Given the description of an element on the screen output the (x, y) to click on. 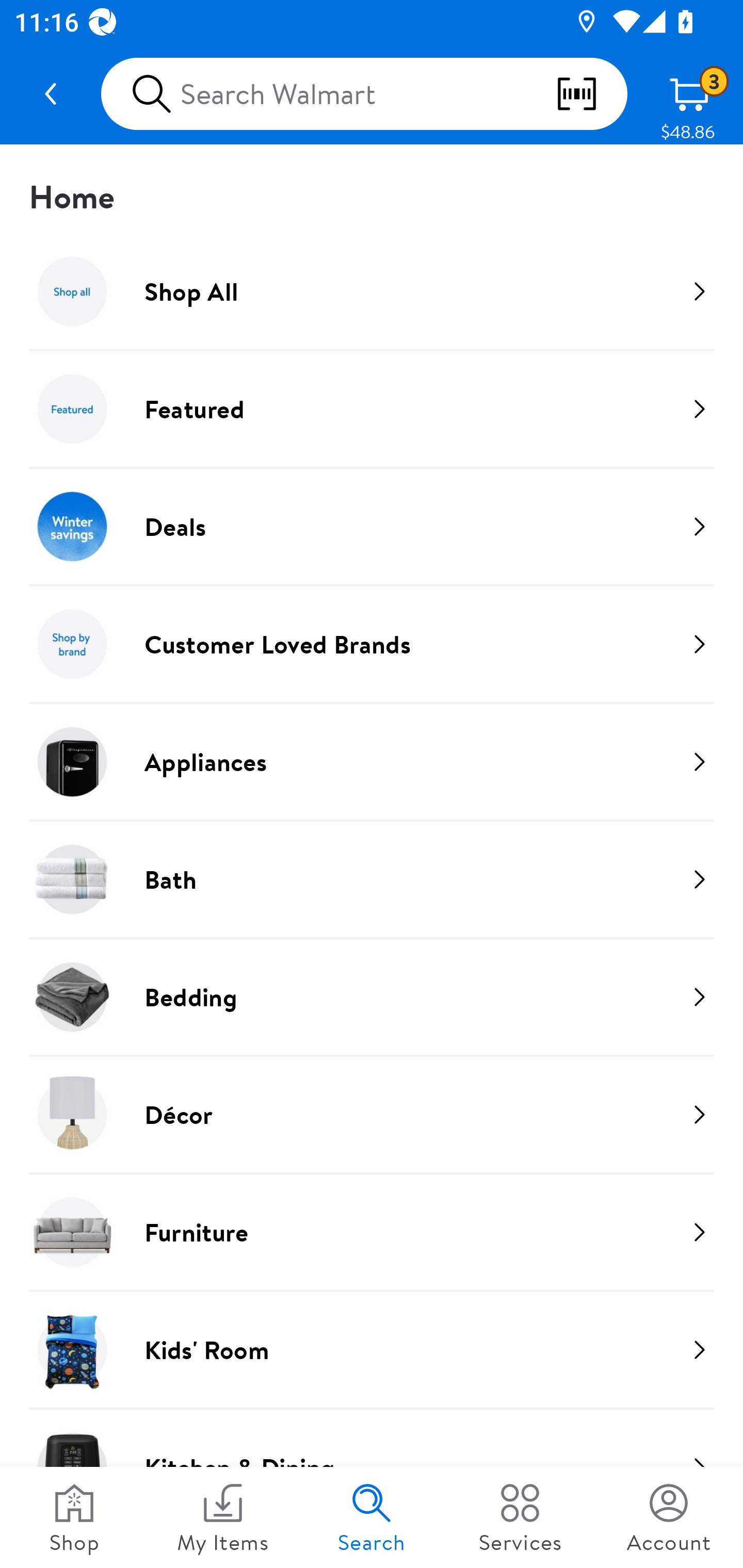
Navigate up (50, 93)
Search Walmart scan barcodes qr codes and more (364, 94)
scan barcodes qr codes and more (591, 94)
Shop All (371, 291)
Featured (371, 409)
Deals (371, 526)
Customer Loved Brands (371, 644)
Appliances (371, 762)
Bath (371, 879)
Bedding (371, 997)
Décor (371, 1114)
Furniture (371, 1232)
Kids' Room (371, 1350)
Shop (74, 1517)
My Items (222, 1517)
Services (519, 1517)
Account (668, 1517)
